Given the description of an element on the screen output the (x, y) to click on. 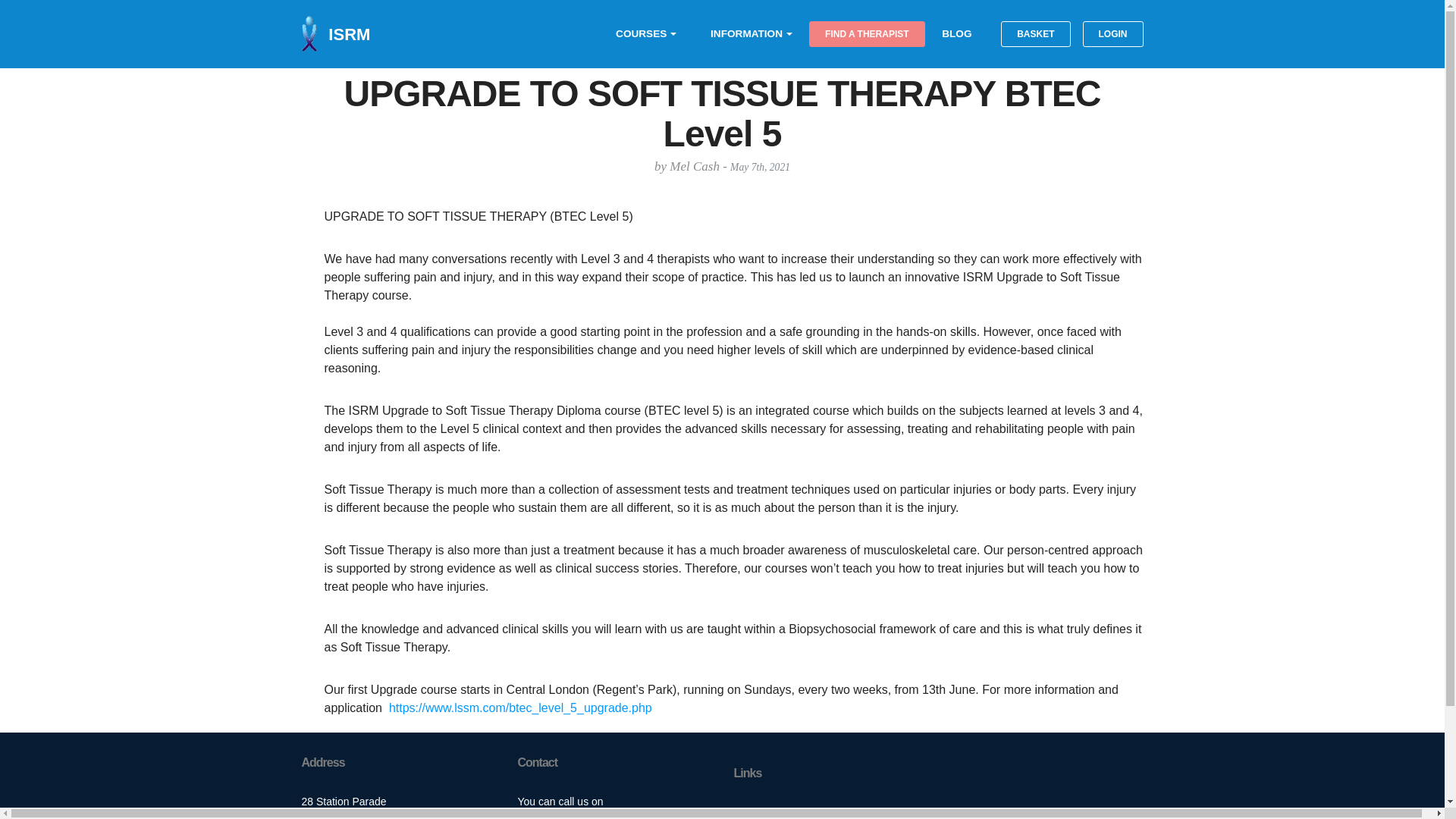
BASKET (1035, 33)
INFORMATION (746, 33)
COURSES (640, 33)
ISRM (349, 33)
BLOG (956, 33)
LOGIN (1112, 33)
FIND A THERAPIST (866, 33)
